Given the description of an element on the screen output the (x, y) to click on. 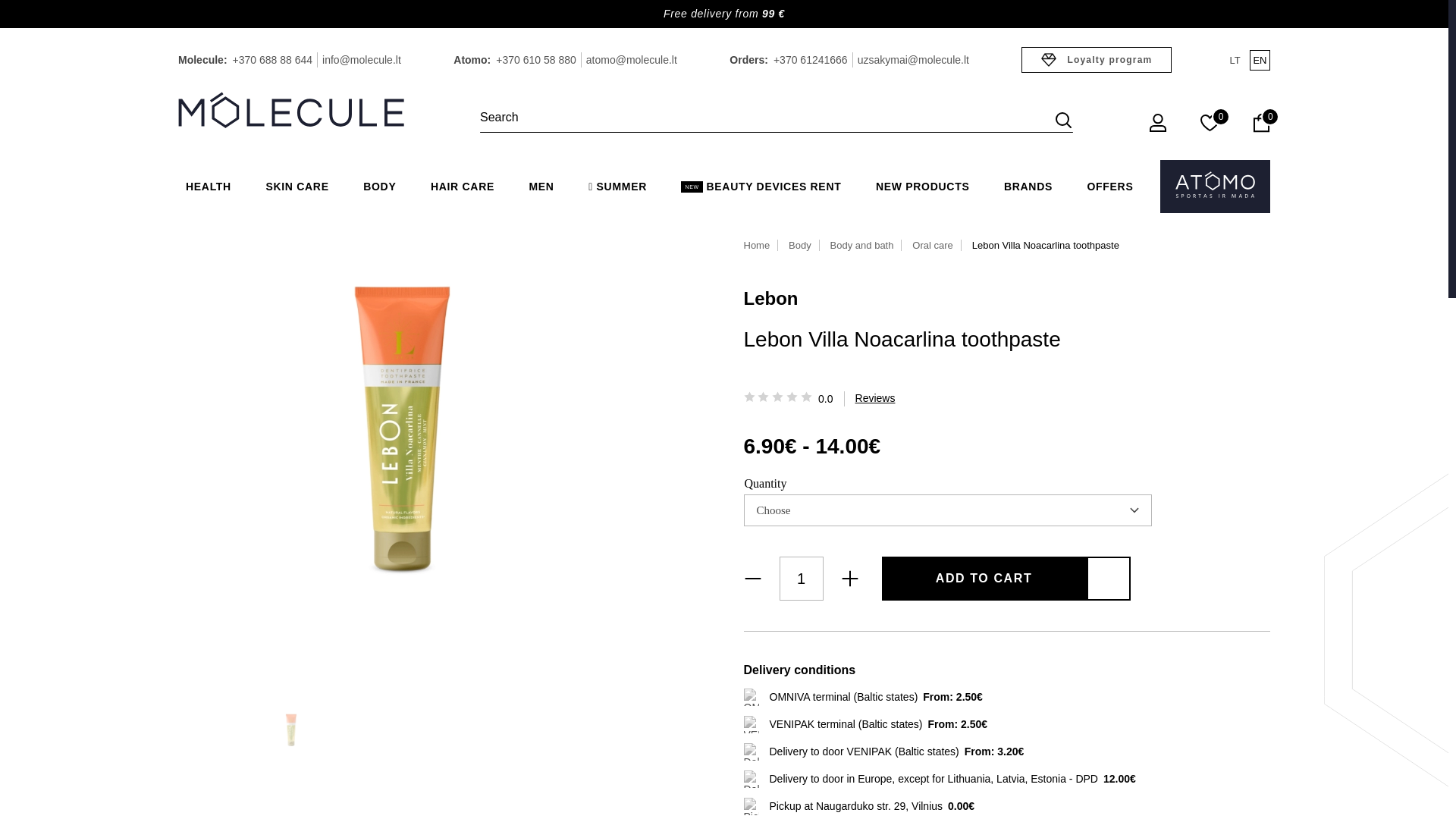
Molecule (290, 111)
en (1259, 59)
1 (801, 578)
EN (1259, 59)
Loyalty program (1097, 59)
Molecule (290, 109)
0 (1209, 126)
LT (1234, 59)
Loyalty program (1097, 59)
lt (1234, 59)
HEALTH (207, 186)
